Given the description of an element on the screen output the (x, y) to click on. 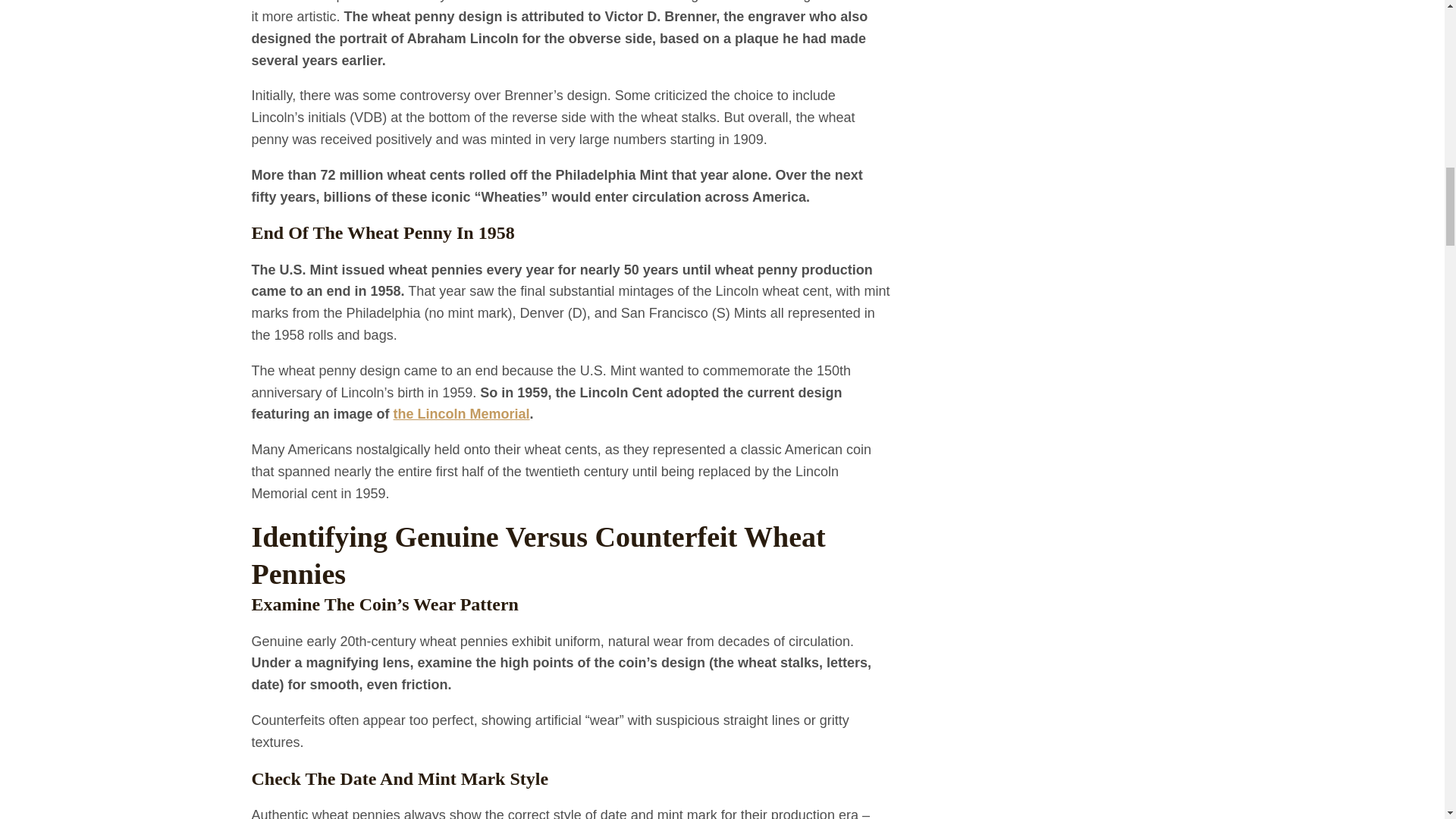
the Lincoln Memorial (461, 413)
